Given the description of an element on the screen output the (x, y) to click on. 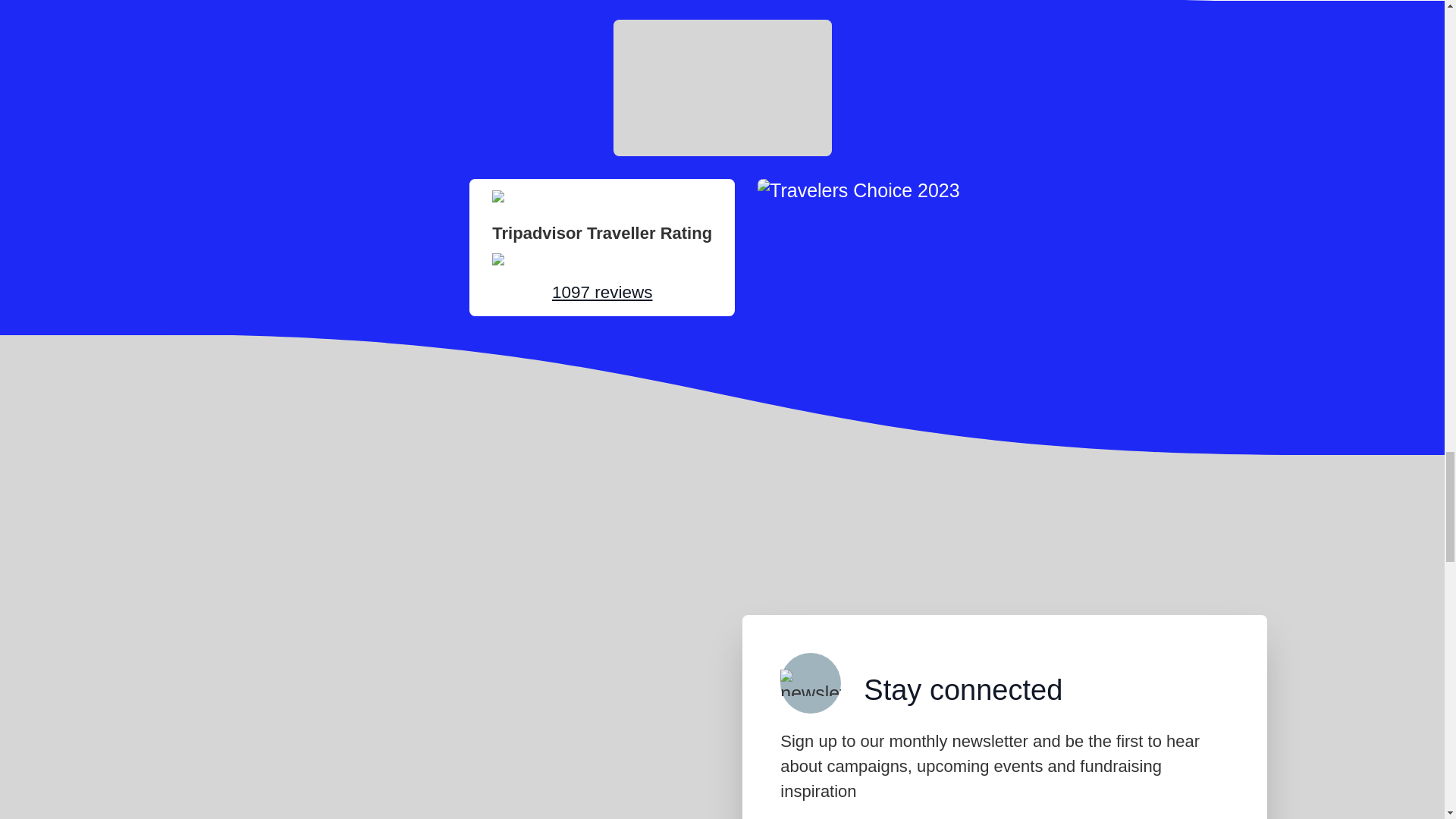
1097 reviews (601, 292)
